Given the description of an element on the screen output the (x, y) to click on. 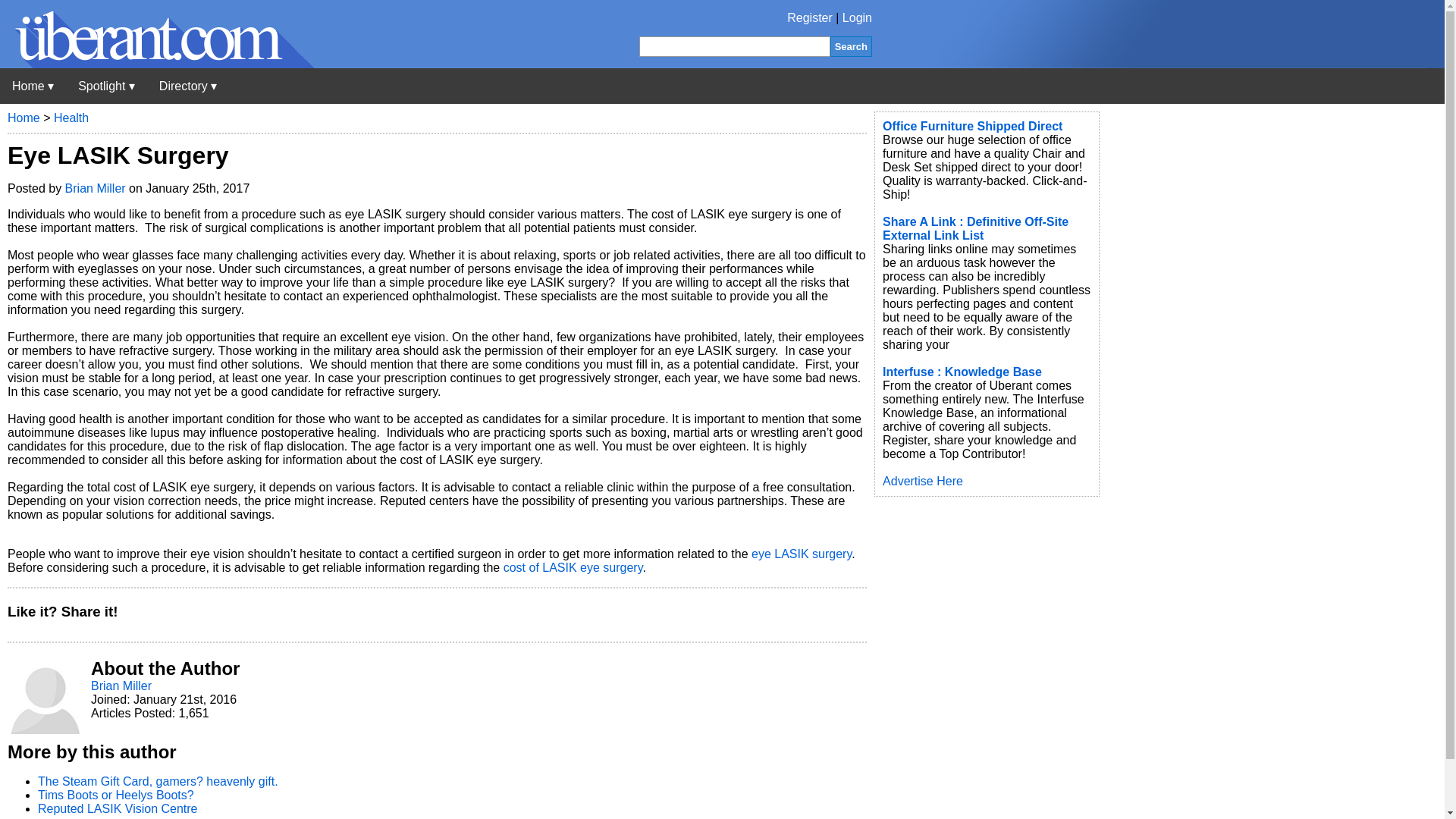
Uberant (157, 63)
Search (850, 46)
Register (809, 17)
Search (850, 46)
Uberant (32, 85)
Login (857, 17)
